Given the description of an element on the screen output the (x, y) to click on. 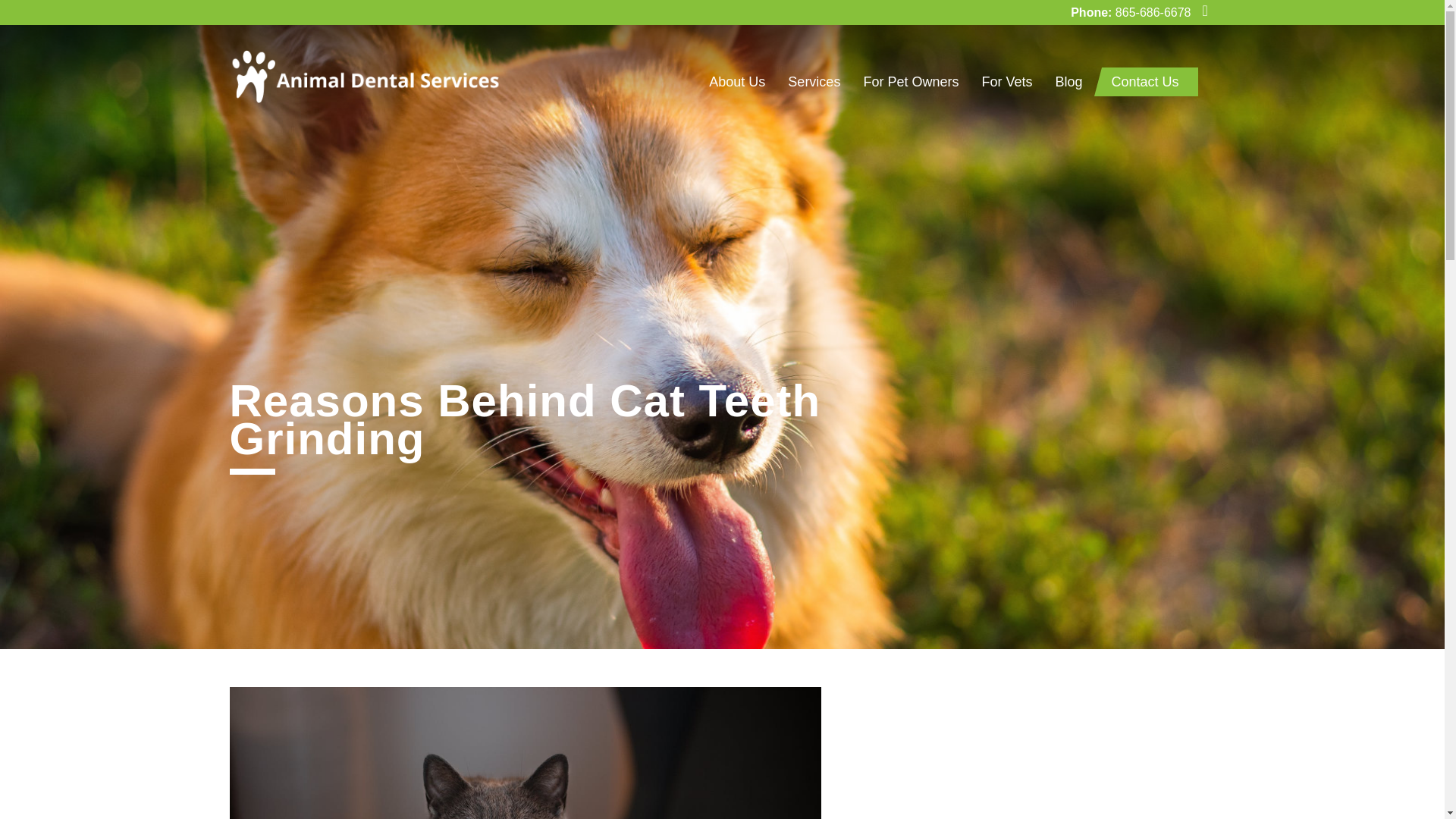
For Pet Owners (910, 81)
865-686-6678 (1153, 11)
Contact Us (1149, 81)
Services (813, 81)
About Us (736, 81)
For Vets (1006, 81)
Blog (1068, 81)
